Given the description of an element on the screen output the (x, y) to click on. 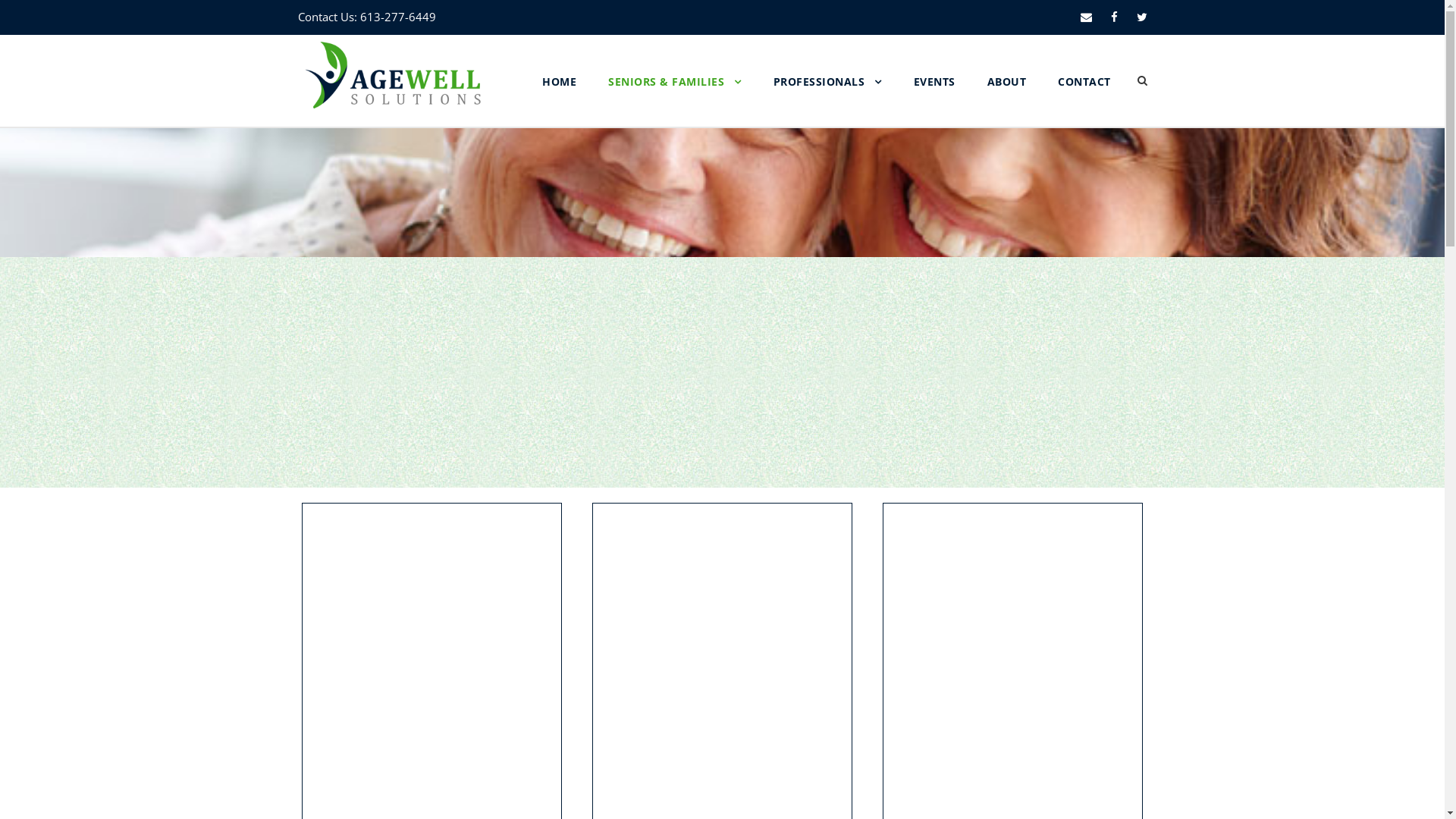
ABOUT Element type: text (1006, 98)
EVENTS Element type: text (933, 98)
twitter Element type: hover (1140, 16)
SENIORS & FAMILIES Element type: text (674, 98)
aws_logo Element type: hover (391, 74)
CONTACT Element type: text (1083, 98)
PROFESSIONALS Element type: text (827, 98)
email Element type: hover (1085, 16)
HOME Element type: text (559, 98)
facebook Element type: hover (1113, 16)
